Given the description of an element on the screen output the (x, y) to click on. 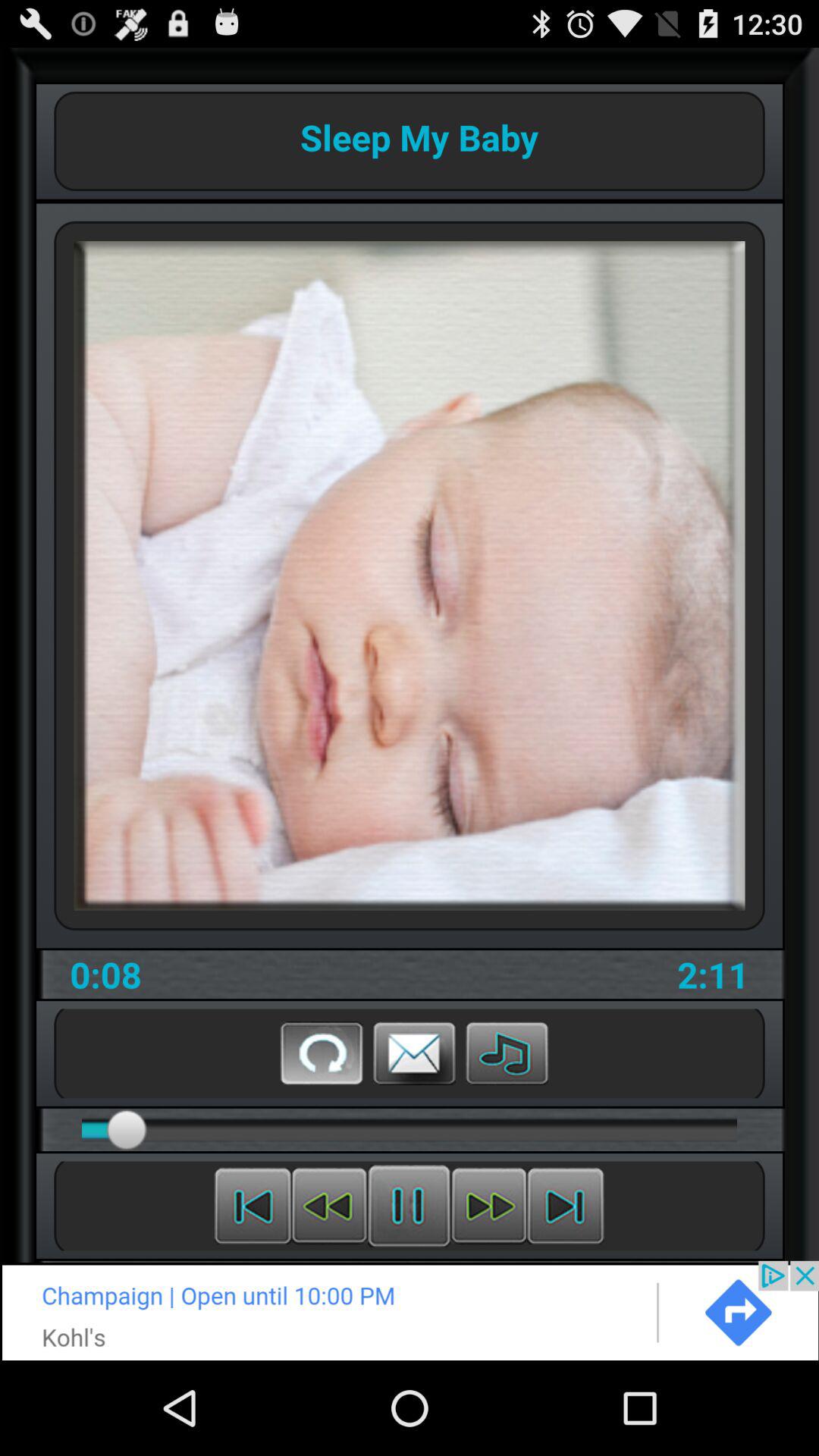
open advertisement (409, 1310)
